Given the description of an element on the screen output the (x, y) to click on. 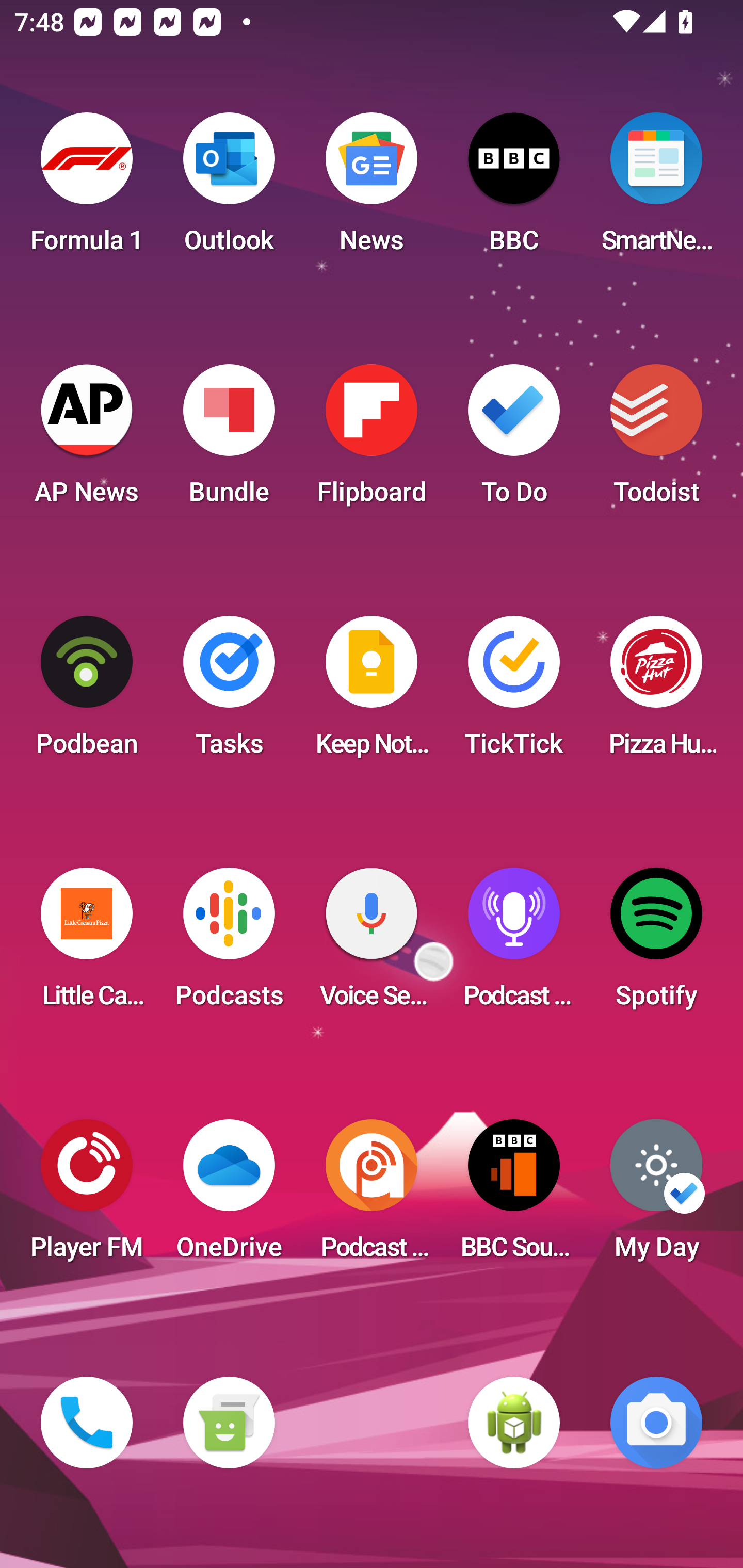
Formula 1 (86, 188)
Outlook (228, 188)
News (371, 188)
BBC (513, 188)
SmartNews (656, 188)
AP News (86, 440)
Bundle (228, 440)
Flipboard (371, 440)
To Do (513, 440)
Todoist (656, 440)
Podbean (86, 692)
Tasks (228, 692)
Keep Notes (371, 692)
TickTick (513, 692)
Pizza Hut HK & Macau (656, 692)
Little Caesars Pizza (86, 943)
Podcasts (228, 943)
Voice Search (371, 943)
Podcast Player (513, 943)
Spotify (656, 943)
Player FM (86, 1195)
OneDrive (228, 1195)
Podcast Addict (371, 1195)
BBC Sounds (513, 1195)
My Day (656, 1195)
Phone (86, 1422)
Messaging (228, 1422)
WebView Browser Tester (513, 1422)
Camera (656, 1422)
